Given the description of an element on the screen output the (x, y) to click on. 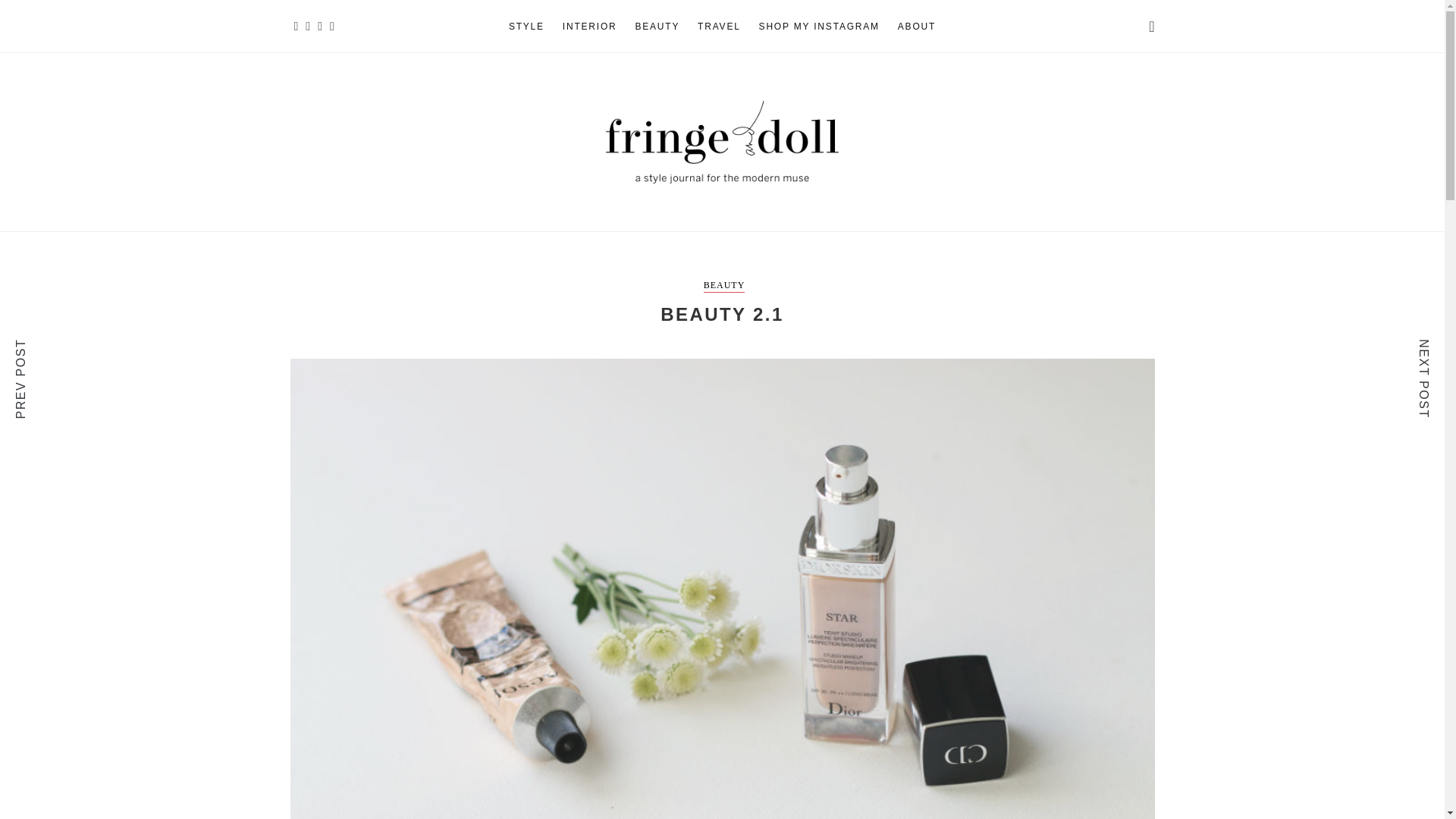
Facebook (307, 25)
Pinterest (331, 25)
TRAVEL (719, 26)
STYLE (526, 26)
SHOP MY INSTAGRAM (818, 26)
INTERIOR (589, 26)
ABOUT (917, 26)
Twitter (320, 25)
BEAUTY (656, 26)
BEAUTY (724, 286)
Instagram (295, 25)
